Given the description of an element on the screen output the (x, y) to click on. 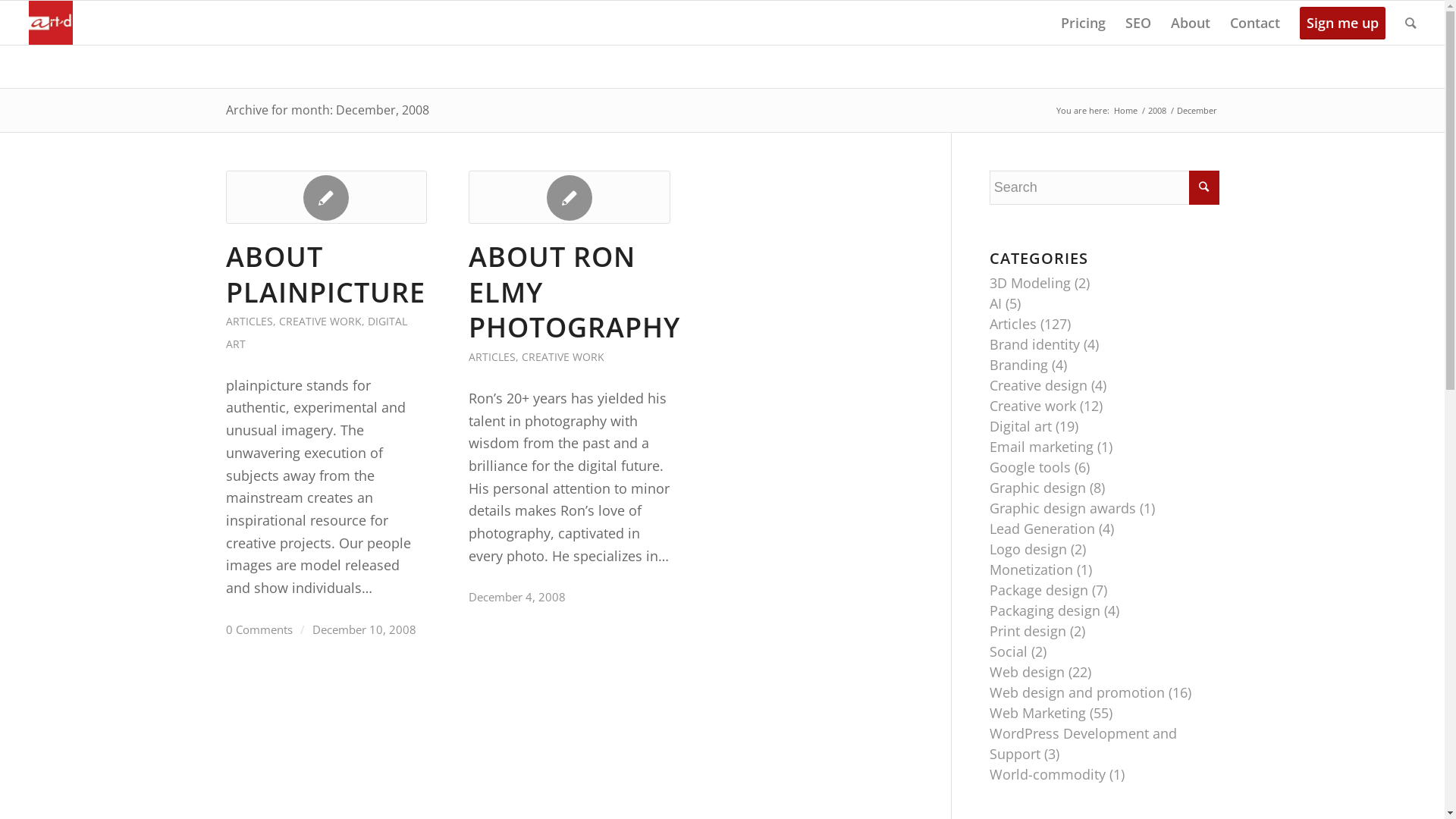
Creative work Element type: text (1032, 405)
Web design and promotion Element type: text (1076, 692)
ARTICLES Element type: text (491, 356)
CREATIVE WORK Element type: text (320, 320)
Package design Element type: text (1038, 589)
Creative design Element type: text (1038, 385)
About Element type: text (1190, 22)
Social Element type: text (1008, 651)
Pricing Element type: text (1083, 22)
AI Element type: text (995, 303)
Monetization Element type: text (1031, 569)
Digital art Element type: text (1020, 426)
Graphic design Element type: text (1037, 487)
Logo design Element type: text (1027, 548)
ABOUT RON ELMY PHOTOGRAPHY Element type: text (574, 292)
2008 Element type: text (1156, 110)
ABOUT PLAINPICTURE Element type: text (325, 274)
Google tools Element type: text (1029, 467)
Articles Element type: text (1012, 323)
DIGITAL ART Element type: text (316, 332)
Lead Generation Element type: text (1042, 528)
Web design Element type: text (1026, 671)
Print design Element type: text (1027, 630)
3D Modeling Element type: text (1029, 282)
Graphic design awards Element type: text (1062, 507)
Packaging design Element type: text (1044, 610)
Home Element type: text (1125, 110)
ARTICLES Element type: text (249, 320)
World-commodity Element type: text (1047, 774)
Brand identity Element type: text (1034, 344)
CREATIVE WORK Element type: text (562, 356)
WordPress Development and Support Element type: text (1082, 743)
0 Comments Element type: text (258, 629)
Sign me up Element type: text (1342, 22)
SEO Element type: text (1138, 22)
Email marketing Element type: text (1041, 446)
Branding Element type: text (1018, 364)
Contact Element type: text (1254, 22)
Web Marketing Element type: text (1037, 712)
